Given the description of an element on the screen output the (x, y) to click on. 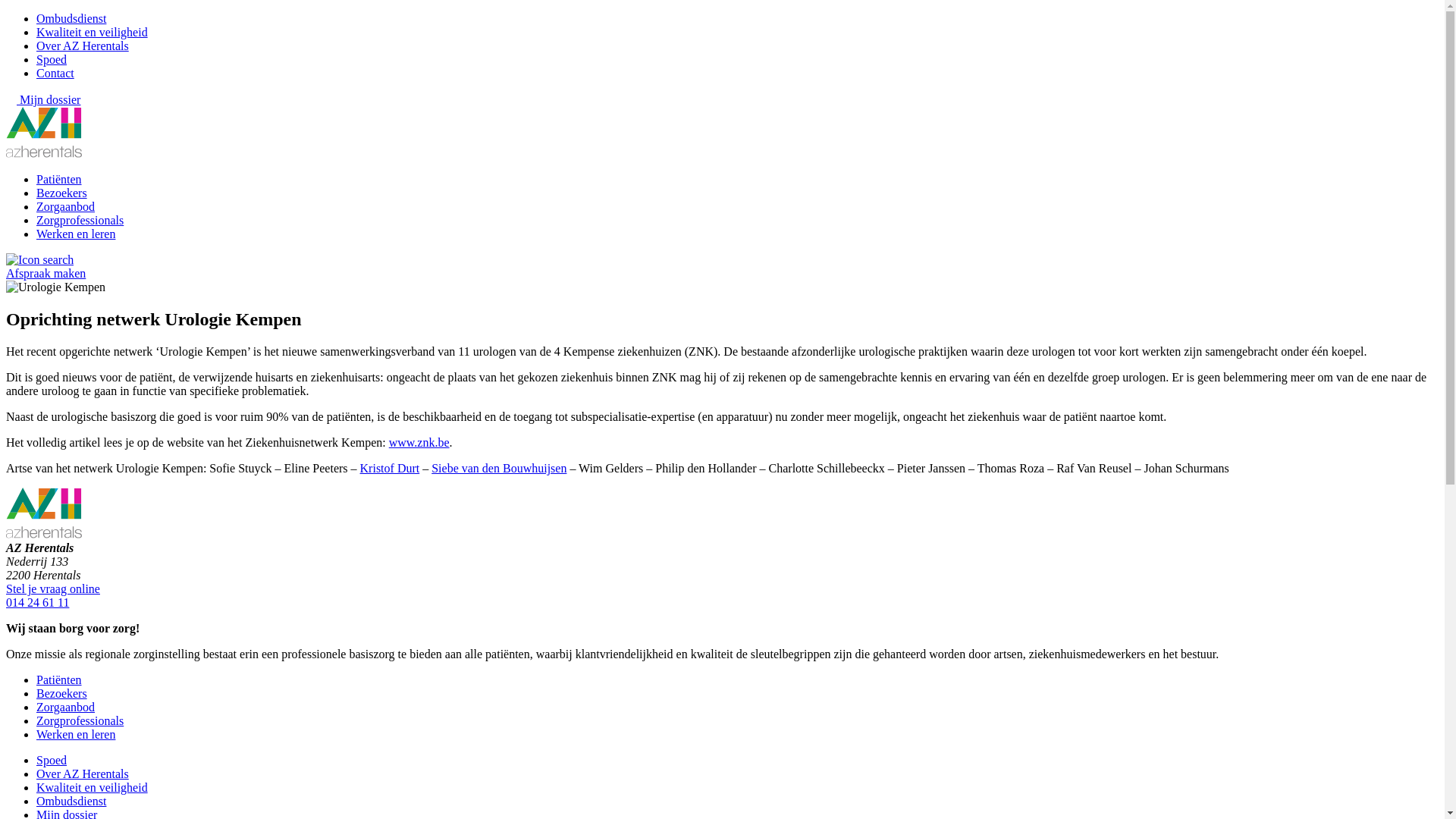
Werken en leren Element type: text (75, 734)
Ombudsdienst Element type: text (71, 18)
Kristof Durt Element type: text (390, 467)
Zorgaanbod Element type: text (65, 206)
Spoed Element type: text (51, 59)
Over AZ Herentals Element type: text (82, 45)
Contact Element type: text (55, 72)
www.znk.be Element type: text (419, 442)
Kwaliteit en veiligheid Element type: text (91, 31)
Home Element type: hover (43, 533)
Stel je vraag online Element type: text (53, 588)
Ombudsdienst Element type: text (71, 800)
Afspraak maken Element type: text (45, 272)
Siebe van den Bouwhuijsen Element type: text (498, 467)
014 24 61 11 Element type: text (37, 602)
Spoed Element type: text (51, 759)
Zorgprofessionals Element type: text (79, 720)
Home Element type: hover (43, 153)
Over AZ Herentals Element type: text (82, 773)
Kwaliteit en veiligheid Element type: text (91, 787)
Mijn dossier Element type: text (43, 99)
Zorgaanbod Element type: text (65, 706)
Urologie Kempen Element type: hover (55, 287)
Bezoekers Element type: text (61, 192)
Werken en leren Element type: text (75, 233)
Bezoekers Element type: text (61, 693)
Zorgprofessionals Element type: text (79, 219)
